Given the description of an element on the screen output the (x, y) to click on. 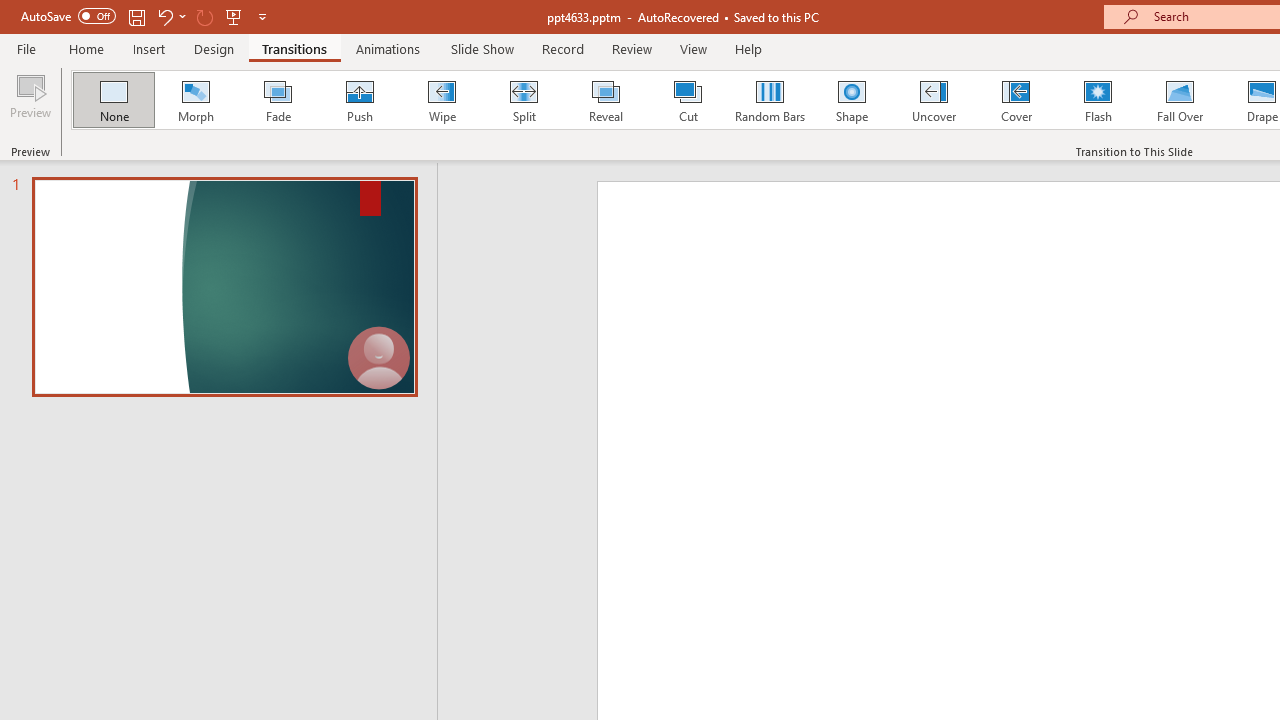
Morph (195, 100)
Flash (1098, 100)
Fall Over (1180, 100)
Cover (1016, 100)
Push (359, 100)
